Given the description of an element on the screen output the (x, y) to click on. 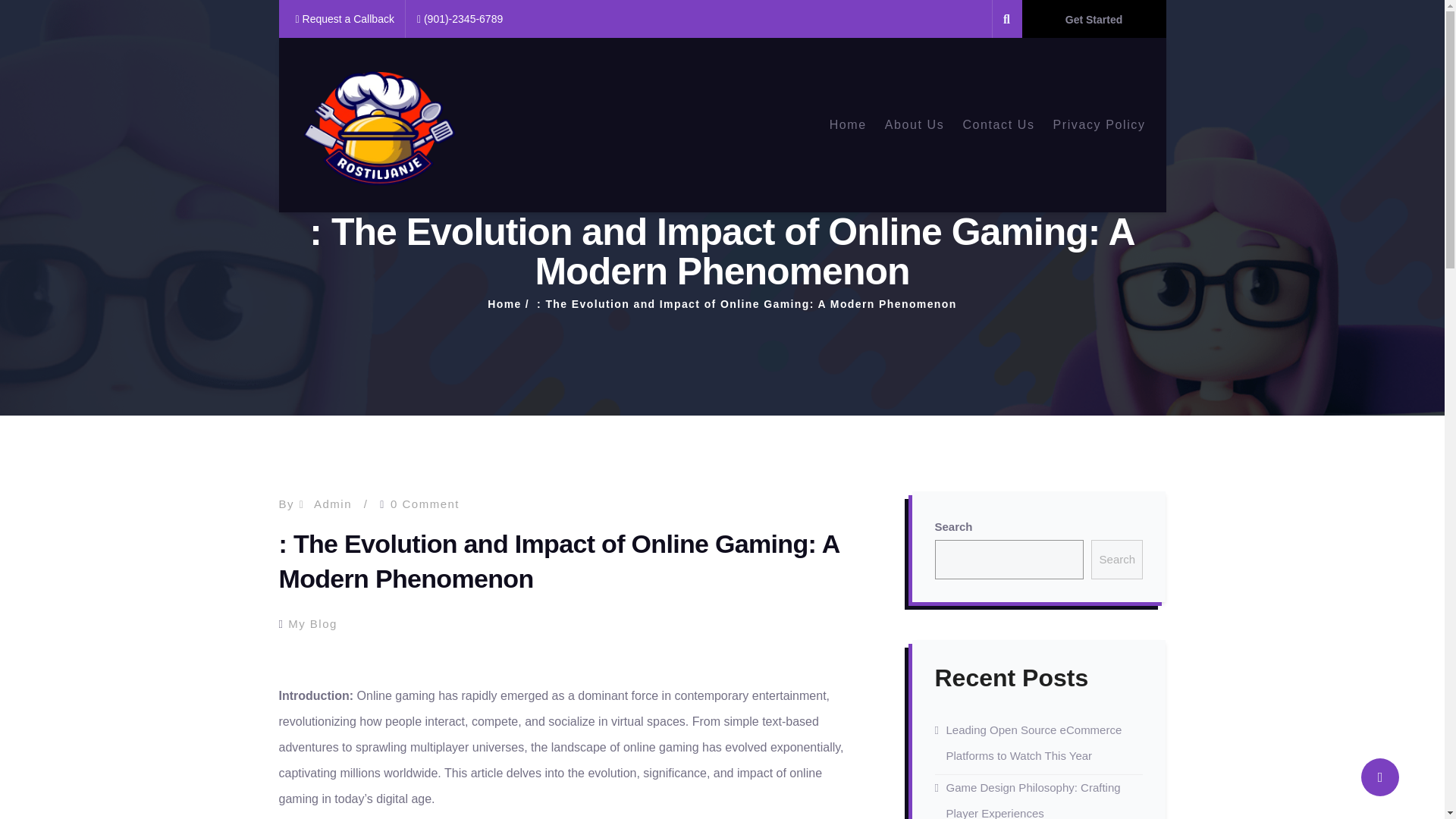
My Blog (312, 623)
Home (847, 124)
Get Started (1094, 18)
Privacy Policy (1098, 124)
0 Comment (425, 503)
Search (1116, 559)
Leading Open Source eCommerce Platforms to Watch This Year (1034, 742)
Contact Us (997, 124)
Home (504, 304)
